Given the description of an element on the screen output the (x, y) to click on. 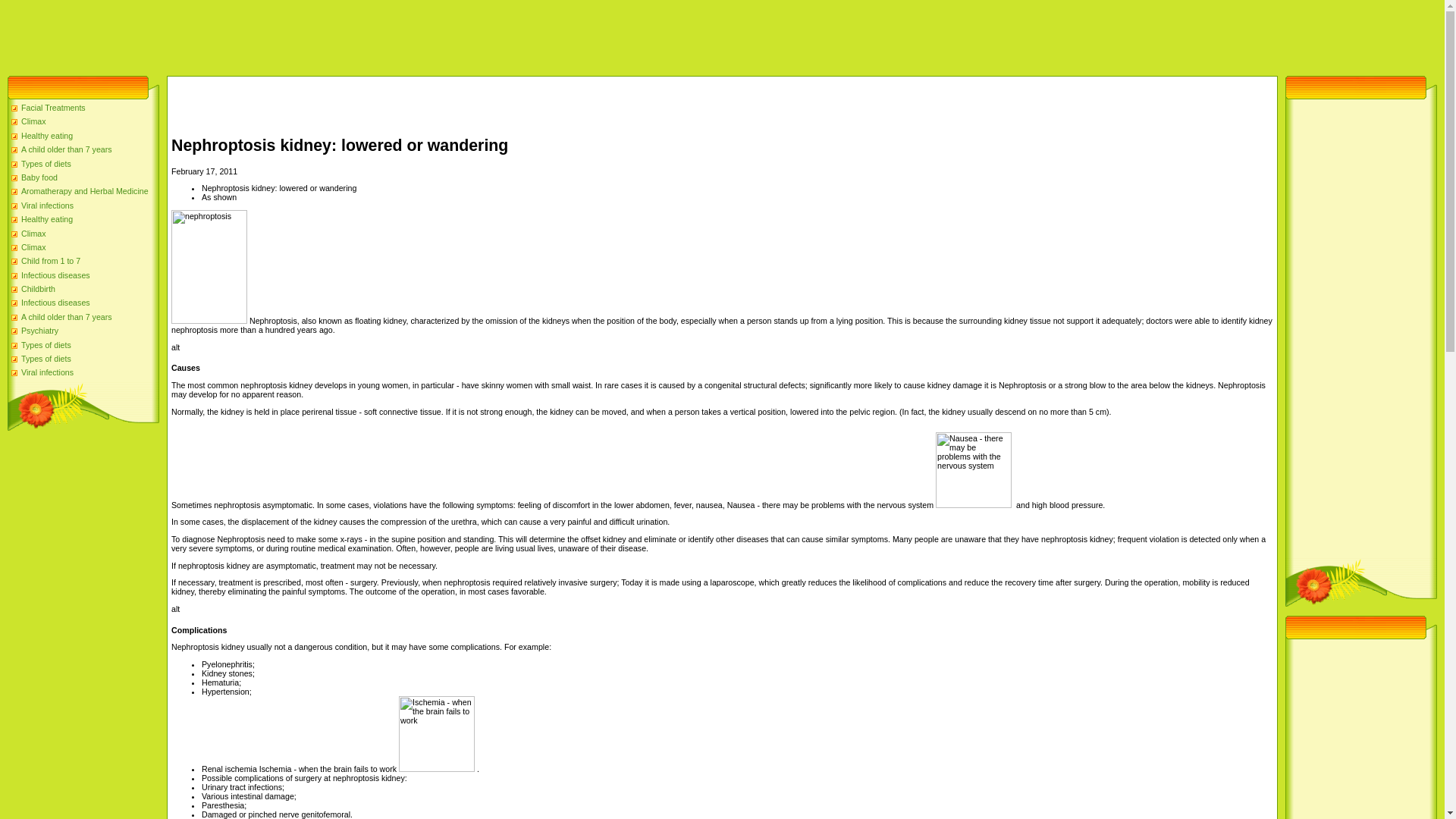
Climax (33, 233)
Types of diets (46, 163)
Psychiatry (39, 329)
A child older than 7 years (66, 148)
Infectious diseases (55, 275)
Types of diets (46, 344)
Climax (33, 233)
A child older than 7 years (66, 316)
Aromatherapy and Herbal Medicine (84, 190)
Climax (33, 121)
